Given the description of an element on the screen output the (x, y) to click on. 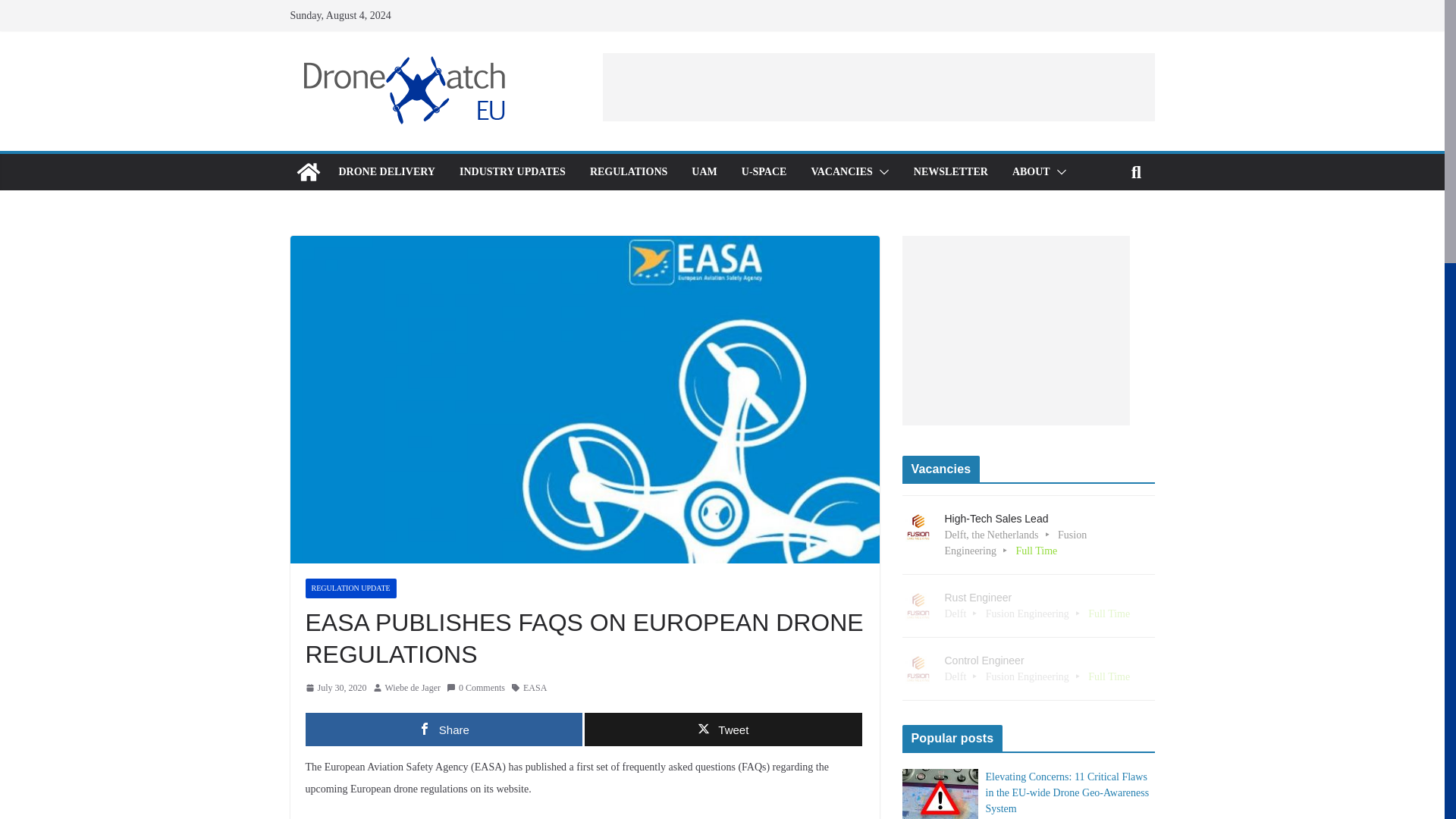
ABOUT (1030, 171)
NEWSLETTER (951, 171)
Wiebe de Jager (413, 688)
INDUSTRY UPDATES (513, 171)
July 30, 2020 (335, 688)
REGULATIONS (627, 171)
U-SPACE (764, 171)
Tweet (723, 729)
Dronewatch Europe (307, 171)
EASA (534, 688)
UAM (703, 171)
Wiebe de Jager (413, 688)
0 Comments (475, 688)
Share (443, 729)
DRONE DELIVERY (385, 171)
